Given the description of an element on the screen output the (x, y) to click on. 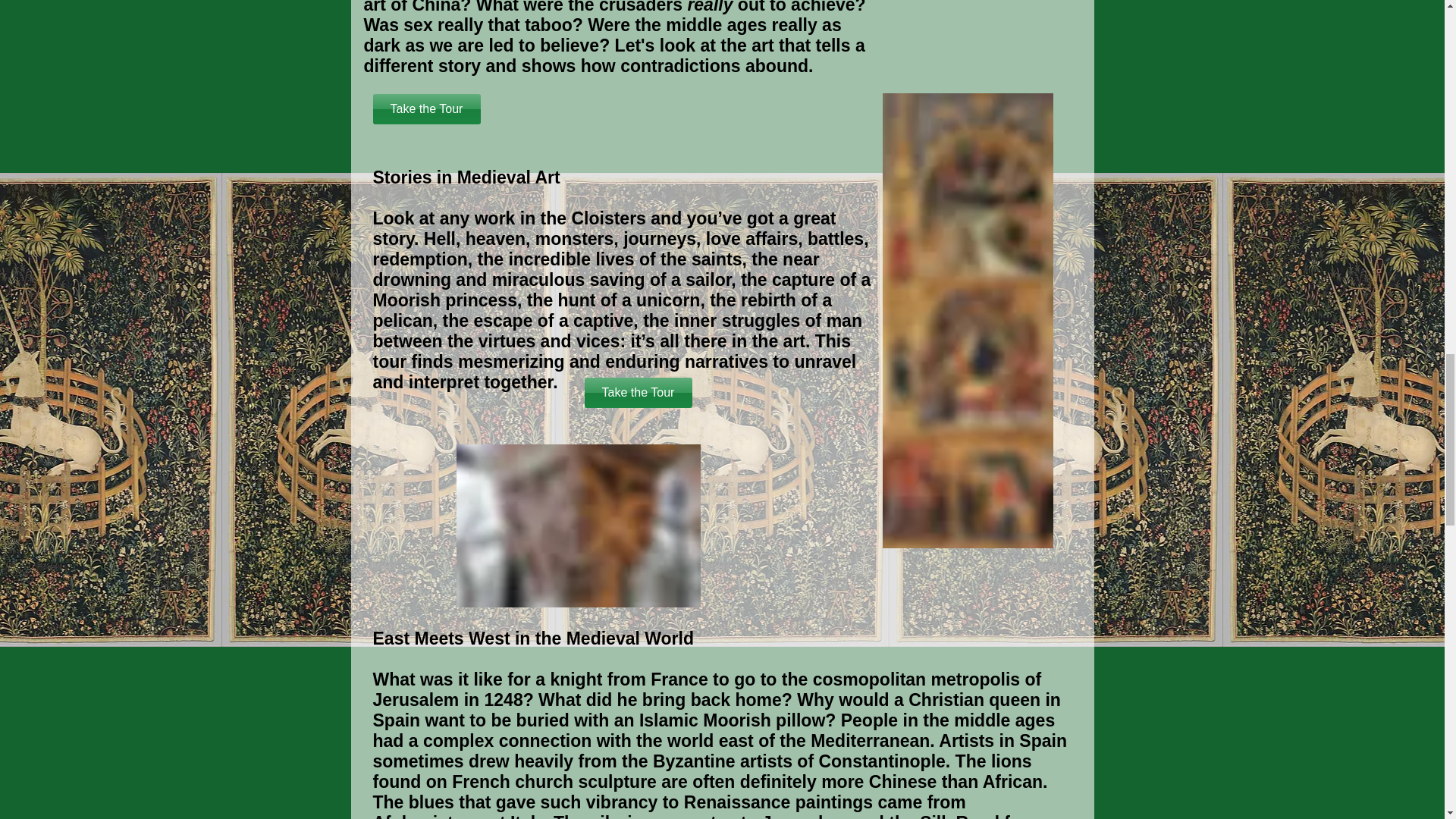
Take the Tour (637, 392)
Take the Tour (426, 109)
